Given the description of an element on the screen output the (x, y) to click on. 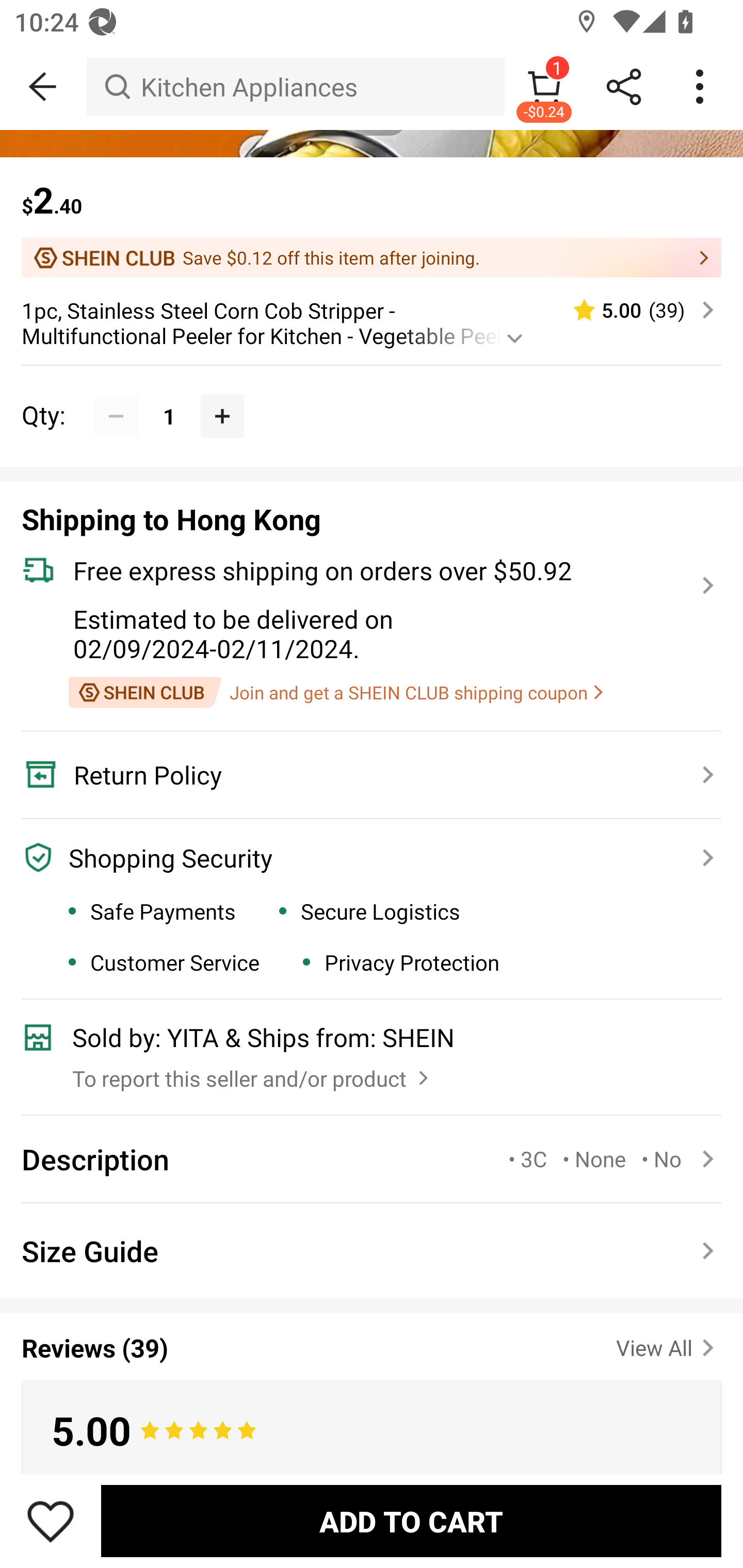
BACK (43, 86)
1 -$0.24 (543, 87)
Kitchen Appliances (295, 87)
$2.40 Save $0.12 off this item after joining. (371, 216)
Save $0.12 off this item after joining. (371, 257)
5.00 (39) (635, 309)
Qty: 1 (371, 393)
Join and get a SHEIN CLUB shipping coupon (335, 691)
Return Policy (359, 774)
To report this seller and/or product   (252, 1072)
Description Description    • 3C   • None   • No (371, 1159)
Size Guide (371, 1250)
Reviews‎ (39) View All 5.00 Average rating5.00 (371, 1385)
ADD TO CART (411, 1520)
Save (50, 1520)
